Given the description of an element on the screen output the (x, y) to click on. 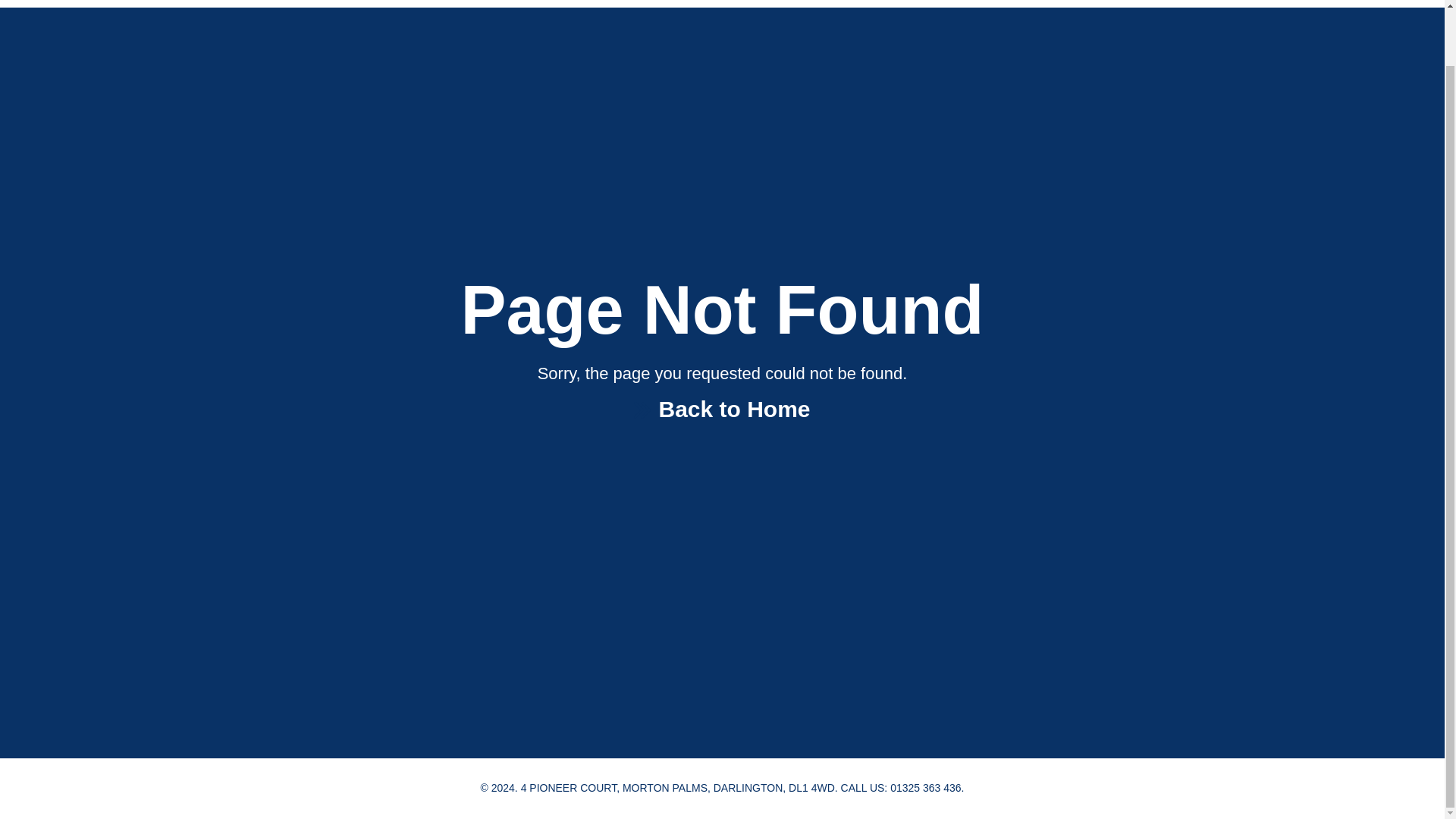
Back to Home (721, 409)
Back to Home (721, 411)
01325 363 436 (924, 787)
